Given the description of an element on the screen output the (x, y) to click on. 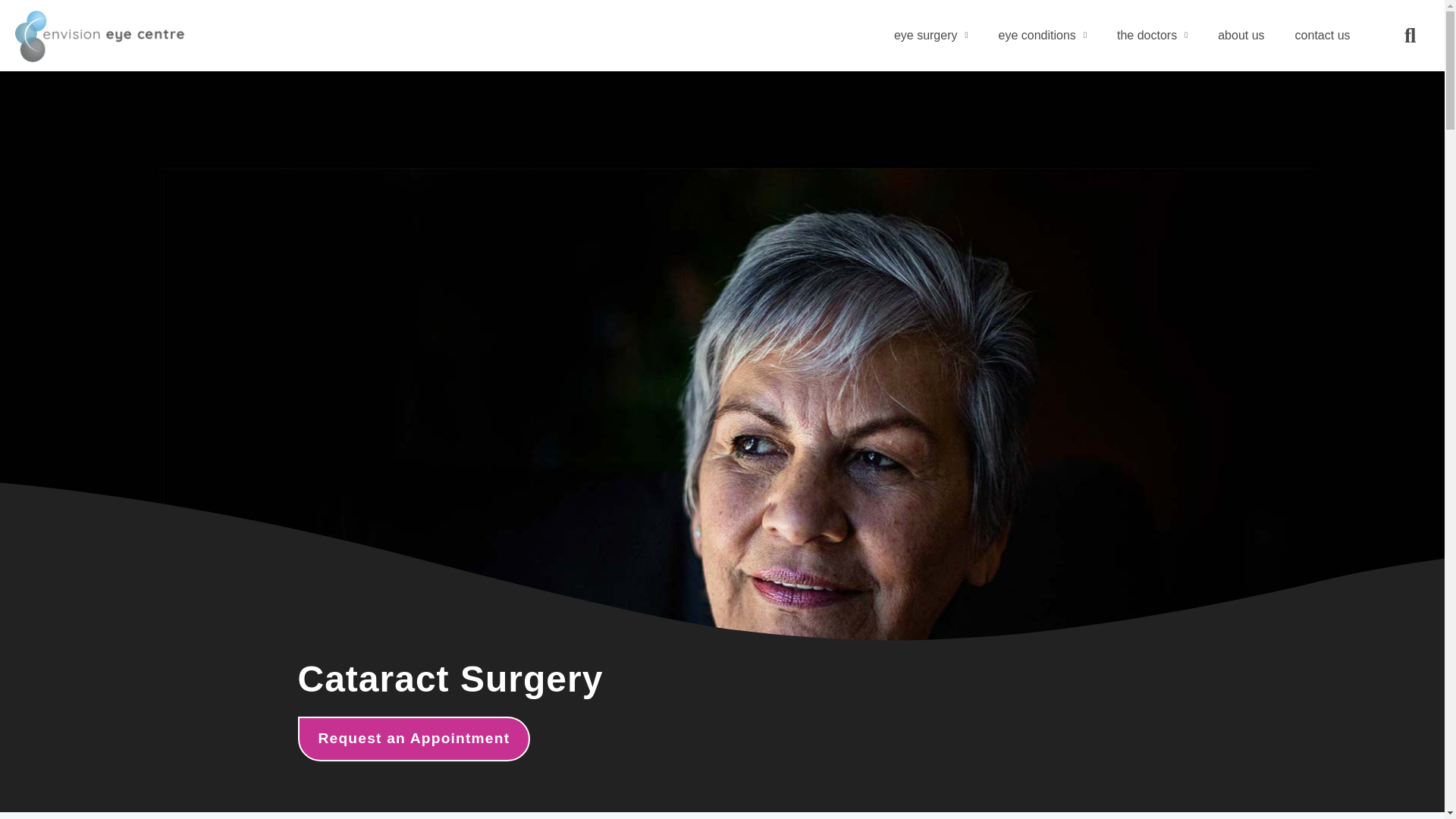
eye surgery (931, 35)
the doctors (1152, 35)
about us (1240, 35)
eye conditions (1043, 35)
contact us (1322, 35)
